Given the description of an element on the screen output the (x, y) to click on. 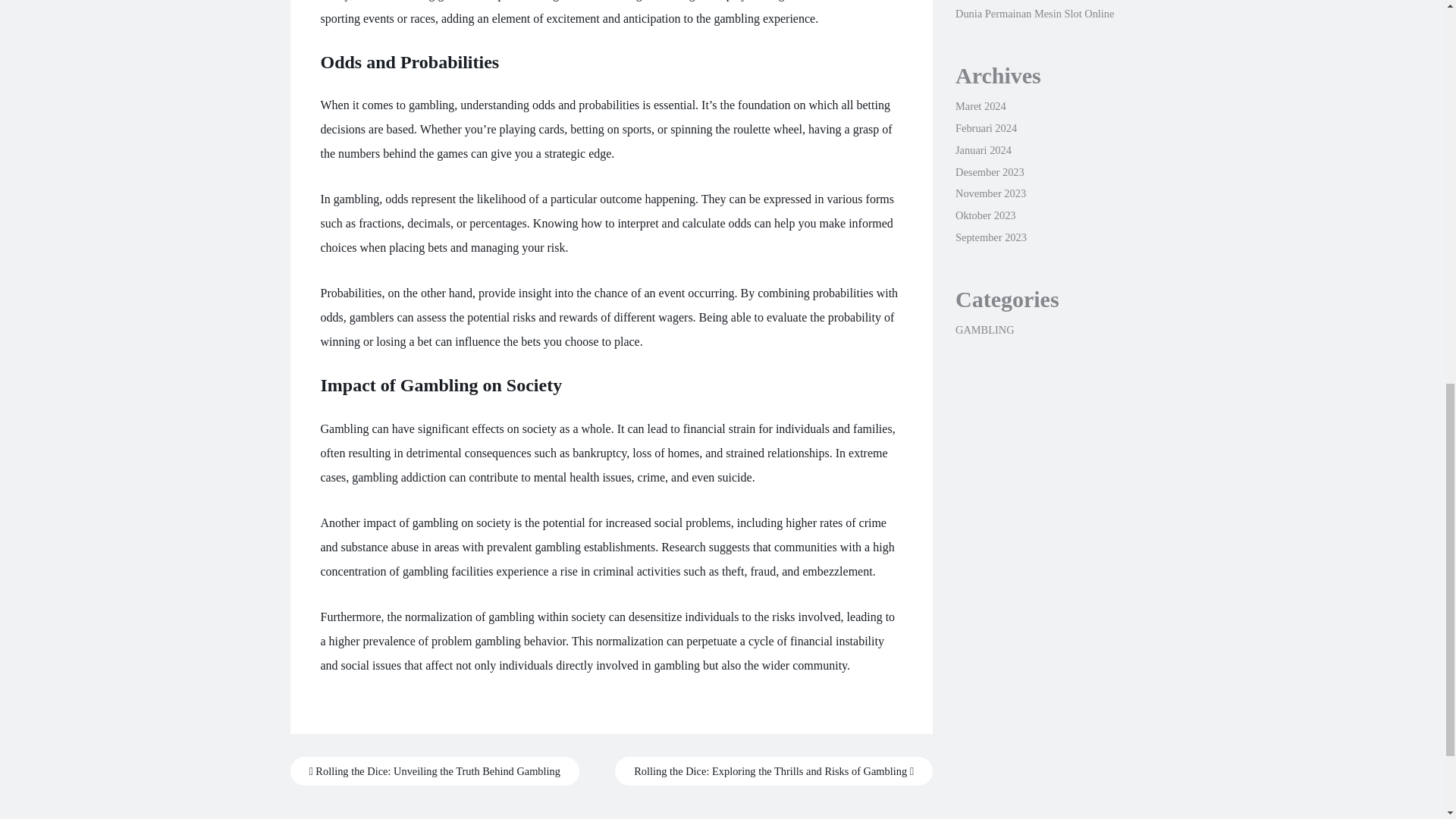
Rolling the Dice: Unveiling the Truth Behind Gambling (433, 771)
Oktober 2023 (985, 215)
Februari 2024 (985, 128)
Maret 2024 (980, 105)
September 2023 (990, 236)
Desember 2023 (990, 172)
Januari 2024 (983, 150)
GAMBLING (984, 329)
November 2023 (990, 193)
